Given the description of an element on the screen output the (x, y) to click on. 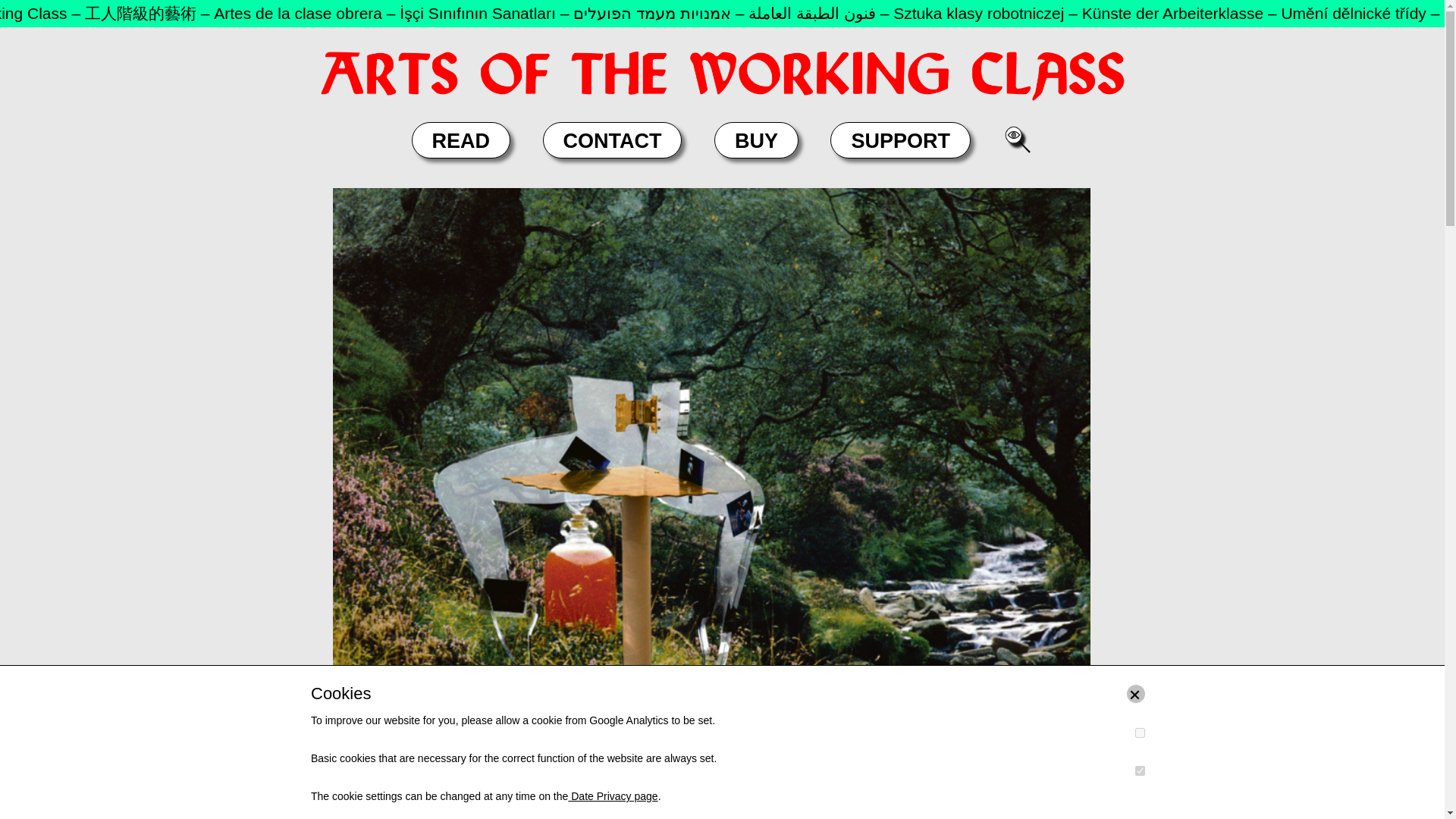
yes (1139, 732)
yes (1139, 770)
BUY (756, 140)
Date Privacy page (612, 796)
Data Privacy (1305, 780)
